Given the description of an element on the screen output the (x, y) to click on. 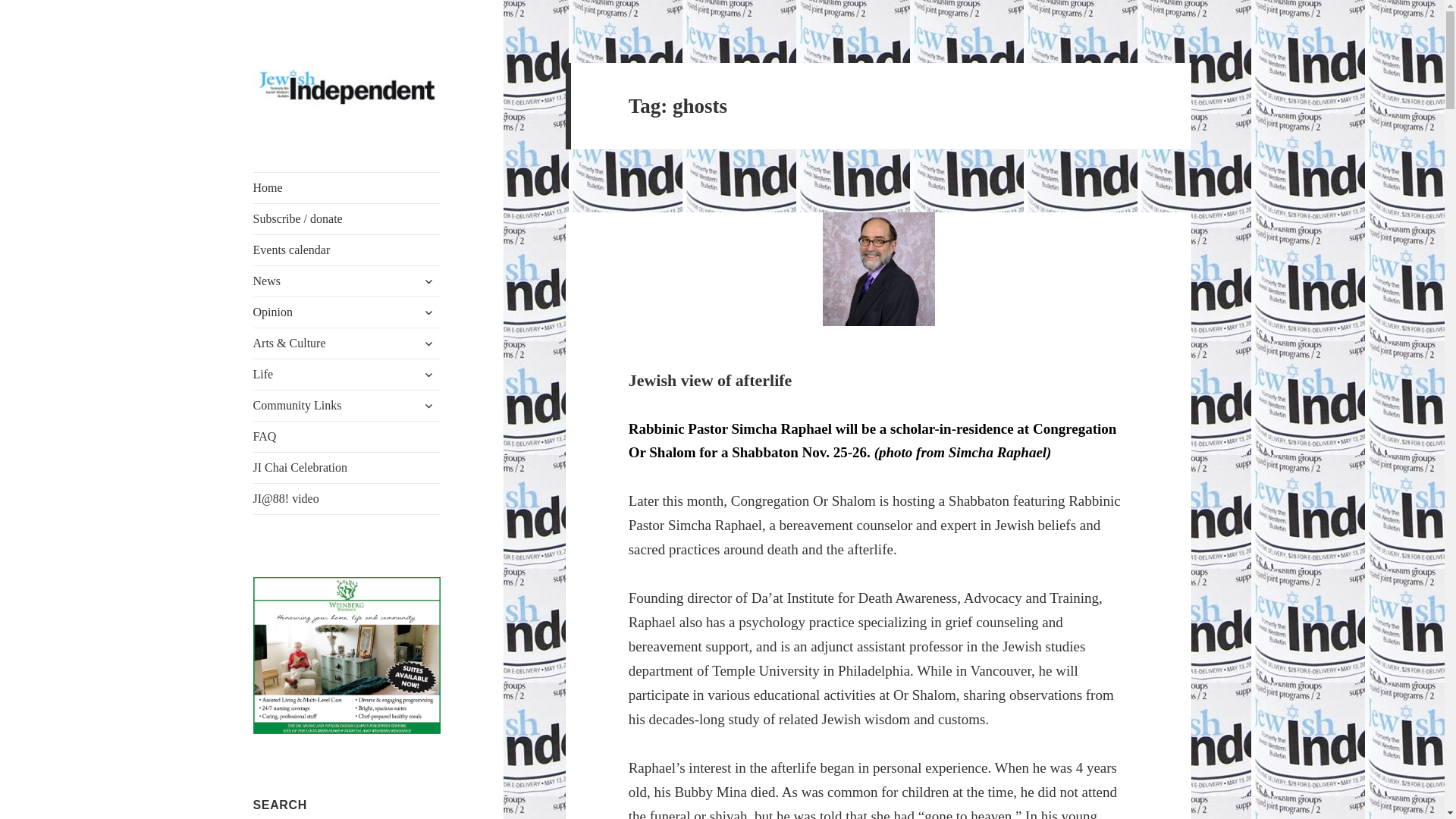
Home (347, 187)
expand child menu (428, 343)
News (347, 281)
JI Chai Celebration (347, 467)
expand child menu (428, 312)
expand child menu (428, 281)
expand child menu (428, 405)
Opinion (347, 312)
Events calendar (347, 250)
FAQ (347, 436)
Life (347, 374)
expand child menu (428, 374)
Community Links (347, 405)
